Given the description of an element on the screen output the (x, y) to click on. 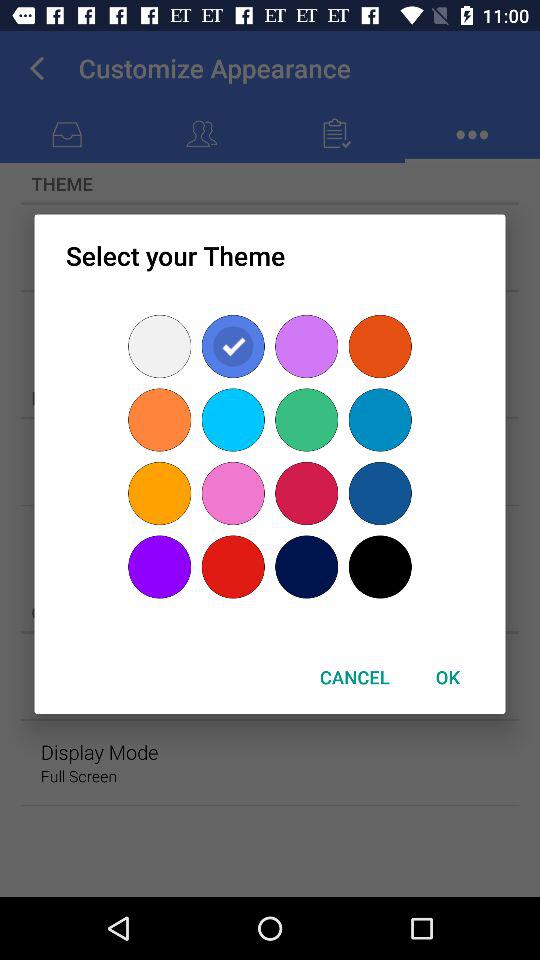
tap the item at the bottom (354, 676)
